Given the description of an element on the screen output the (x, y) to click on. 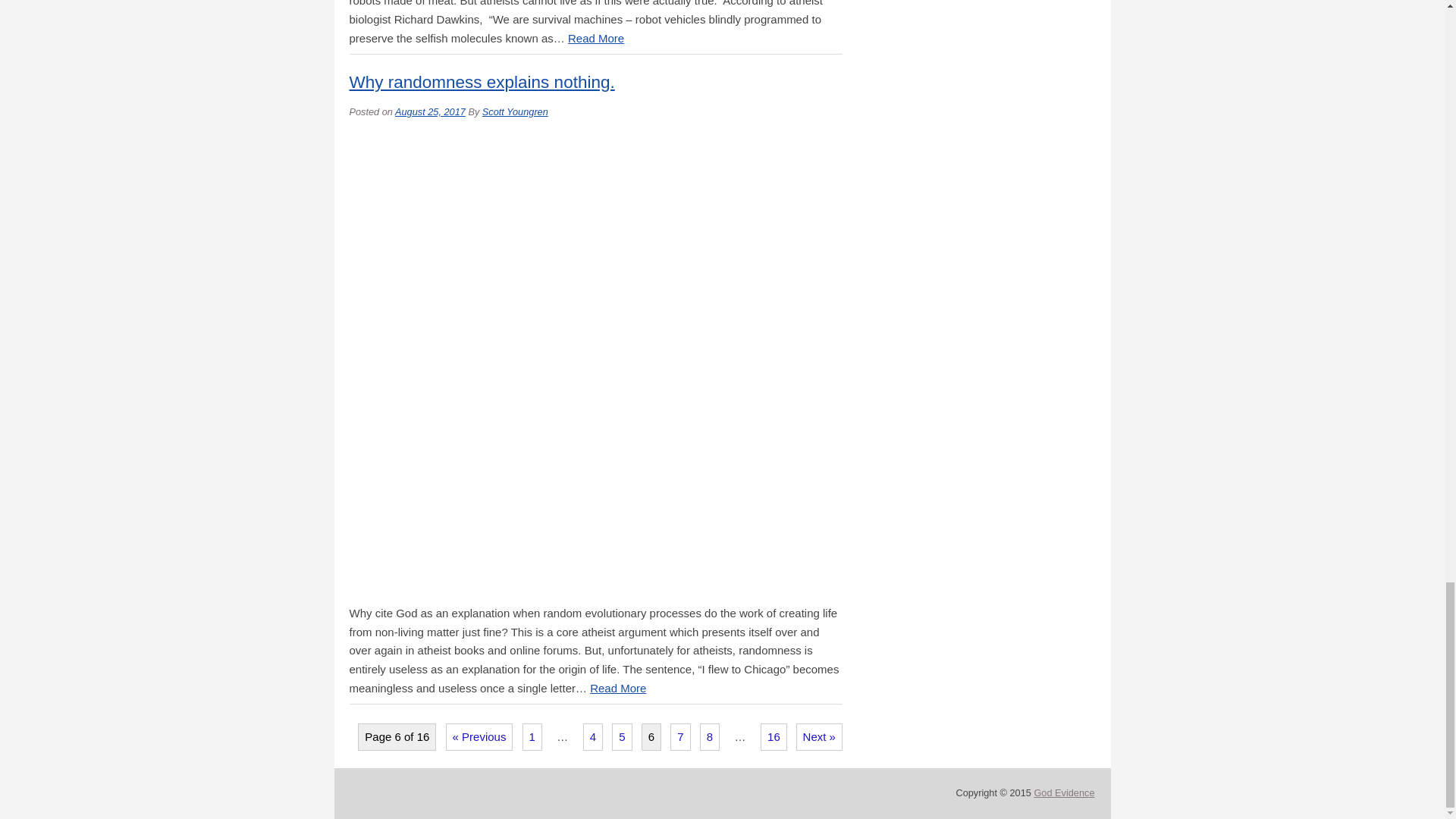
Posts by Scott Youngren (514, 111)
Read More (595, 38)
Why randomness explains nothing. (481, 81)
August 25, 2017 (429, 111)
